Given the description of an element on the screen output the (x, y) to click on. 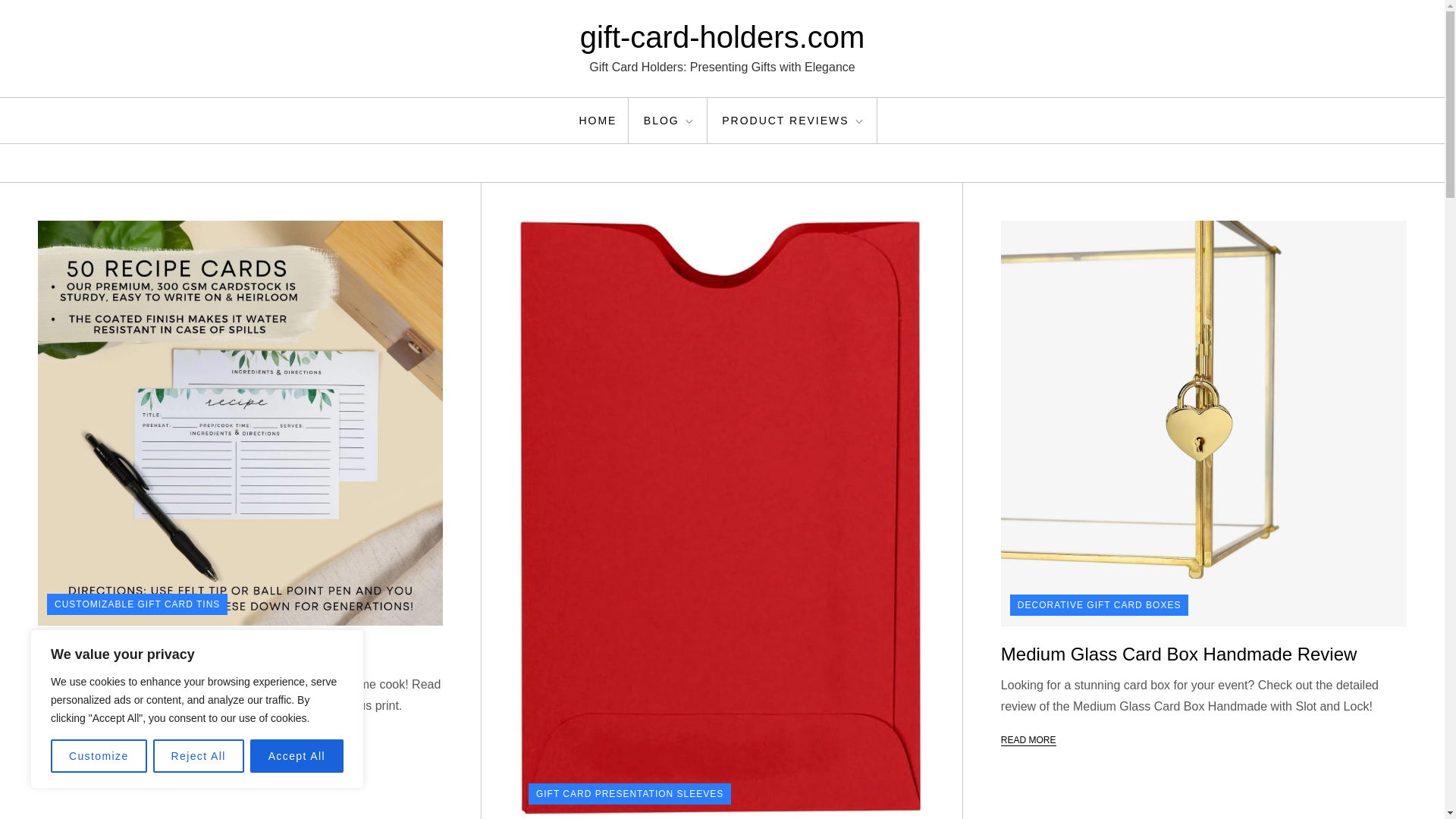
gift-card-holders.com (721, 37)
Accept All (296, 756)
GIFT CARD PRESENTATION SLEEVES (629, 793)
Reject All (198, 756)
CUSTOMIZABLE GIFT CARD TINS (136, 604)
PRODUCT REVIEWS (793, 120)
Customize (98, 756)
BLOG (669, 120)
READ MORE (65, 739)
HOME (597, 120)
